Given the description of an element on the screen output the (x, y) to click on. 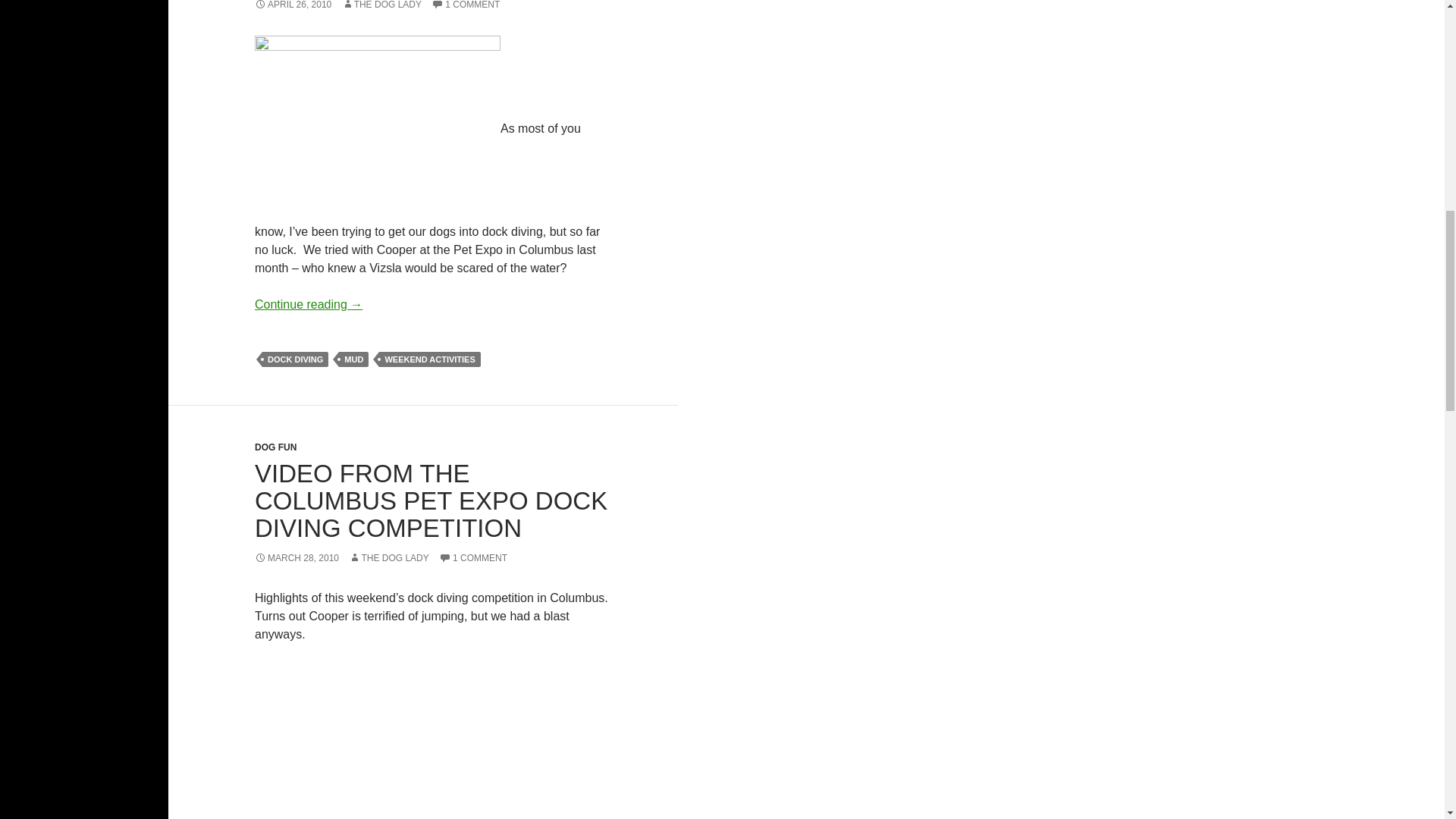
MARCH 28, 2010 (296, 557)
WEEKEND ACTIVITIES (429, 359)
swimming golden (377, 129)
DOCK DIVING (295, 359)
THE DOG LADY (388, 557)
THE DOG LADY (382, 4)
APRIL 26, 2010 (292, 4)
1 COMMENT (472, 557)
VIDEO FROM THE COLUMBUS PET EXPO DOCK DIVING COMPETITION (430, 500)
DOG FUN (275, 447)
